Given the description of an element on the screen output the (x, y) to click on. 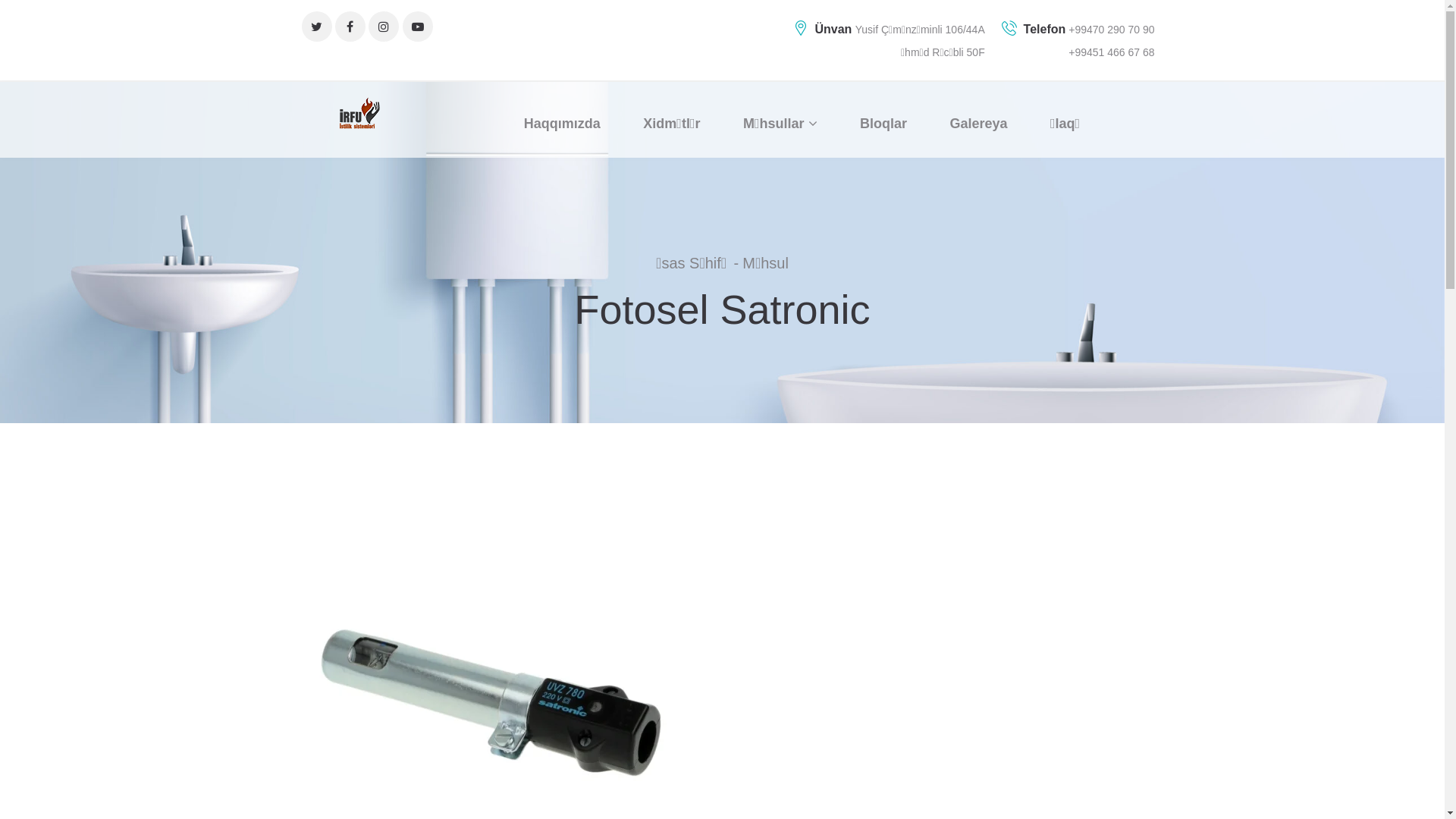
+99451 466 67 68 Element type: text (1111, 52)
+99470 290 70 90 Element type: text (1109, 29)
Bloqlar Element type: text (883, 119)
Galereya Element type: text (977, 119)
